Given the description of an element on the screen output the (x, y) to click on. 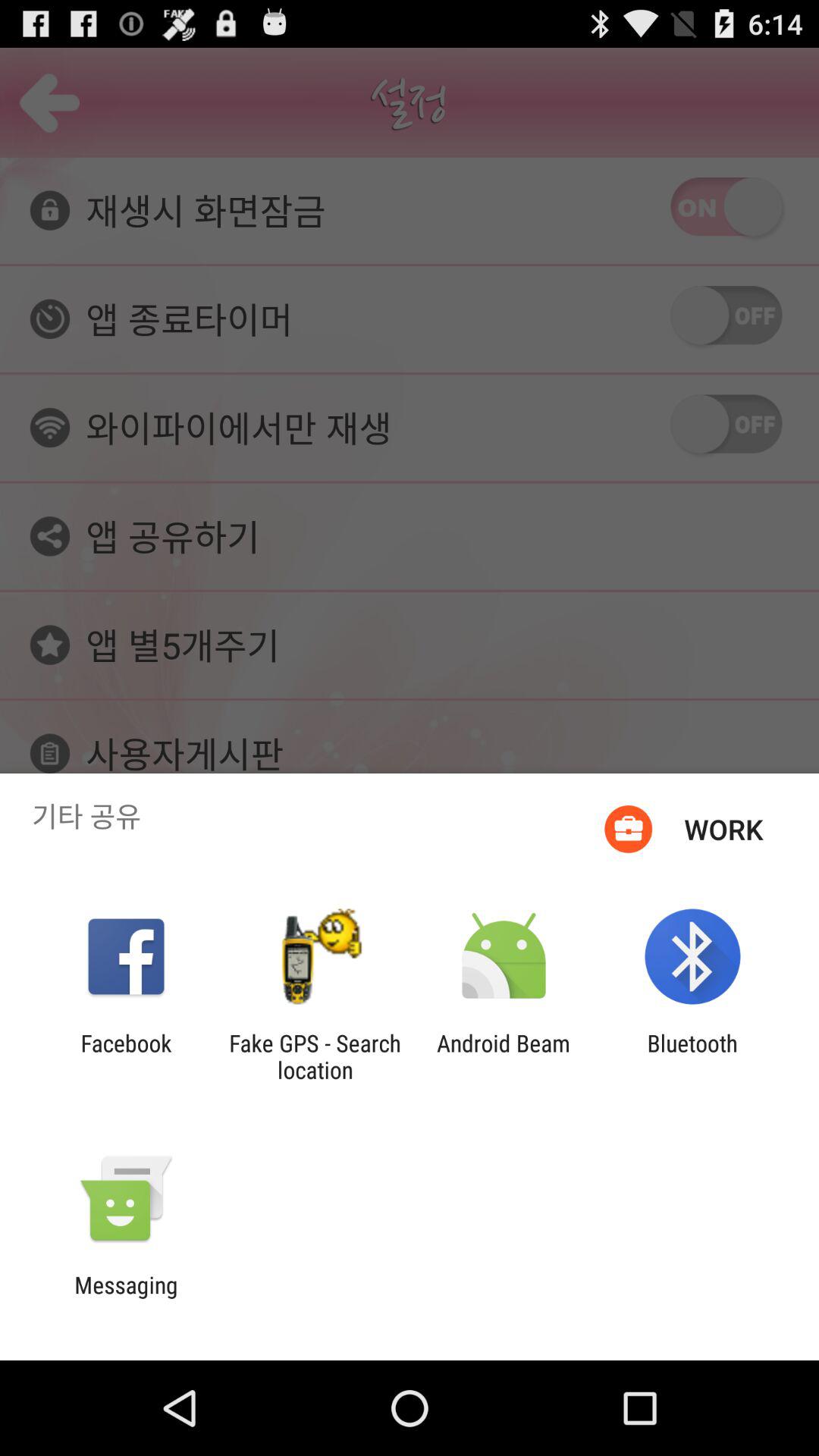
launch item to the left of the android beam item (314, 1056)
